Given the description of an element on the screen output the (x, y) to click on. 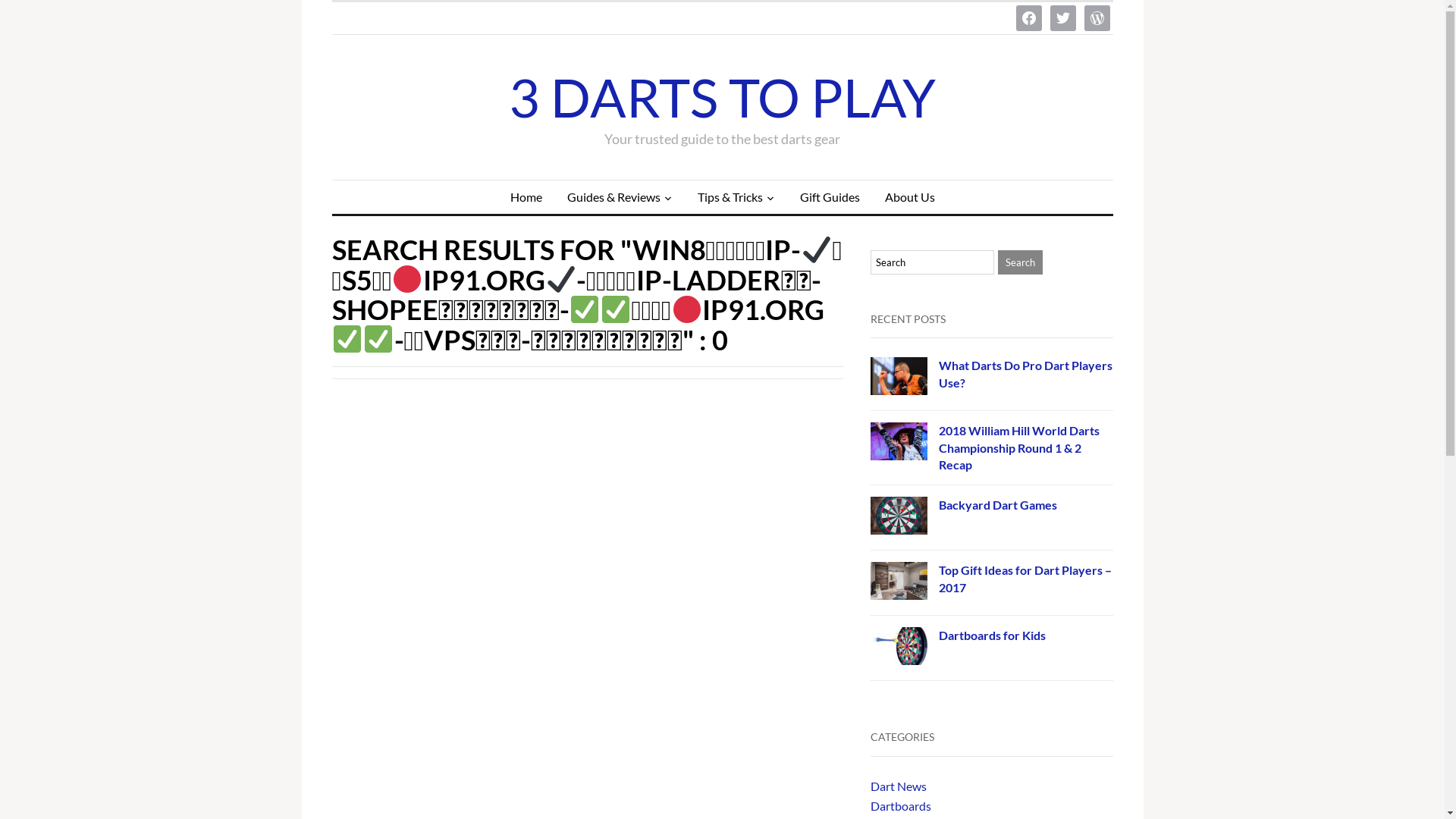
Dartboards Element type: text (900, 806)
wordpress Element type: text (1097, 16)
Home Element type: text (525, 196)
Search Element type: text (1019, 262)
3 DARTS TO PLAY Element type: text (722, 96)
twitter Element type: text (1062, 16)
facebook Element type: text (1028, 16)
2018 William Hill World Darts Championship Round 1 & 2 Recap Element type: text (1018, 447)
Guides & Reviews Element type: text (619, 196)
Dartboards for Kids Element type: text (991, 634)
What Darts Do Pro Dart Players Use? Element type: text (1025, 373)
Tips & Tricks Element type: text (735, 196)
Backyard Dart Games Element type: text (997, 504)
Dart News Element type: text (898, 786)
About Us Element type: text (909, 196)
Gift Guides Element type: text (829, 196)
